Given the description of an element on the screen output the (x, y) to click on. 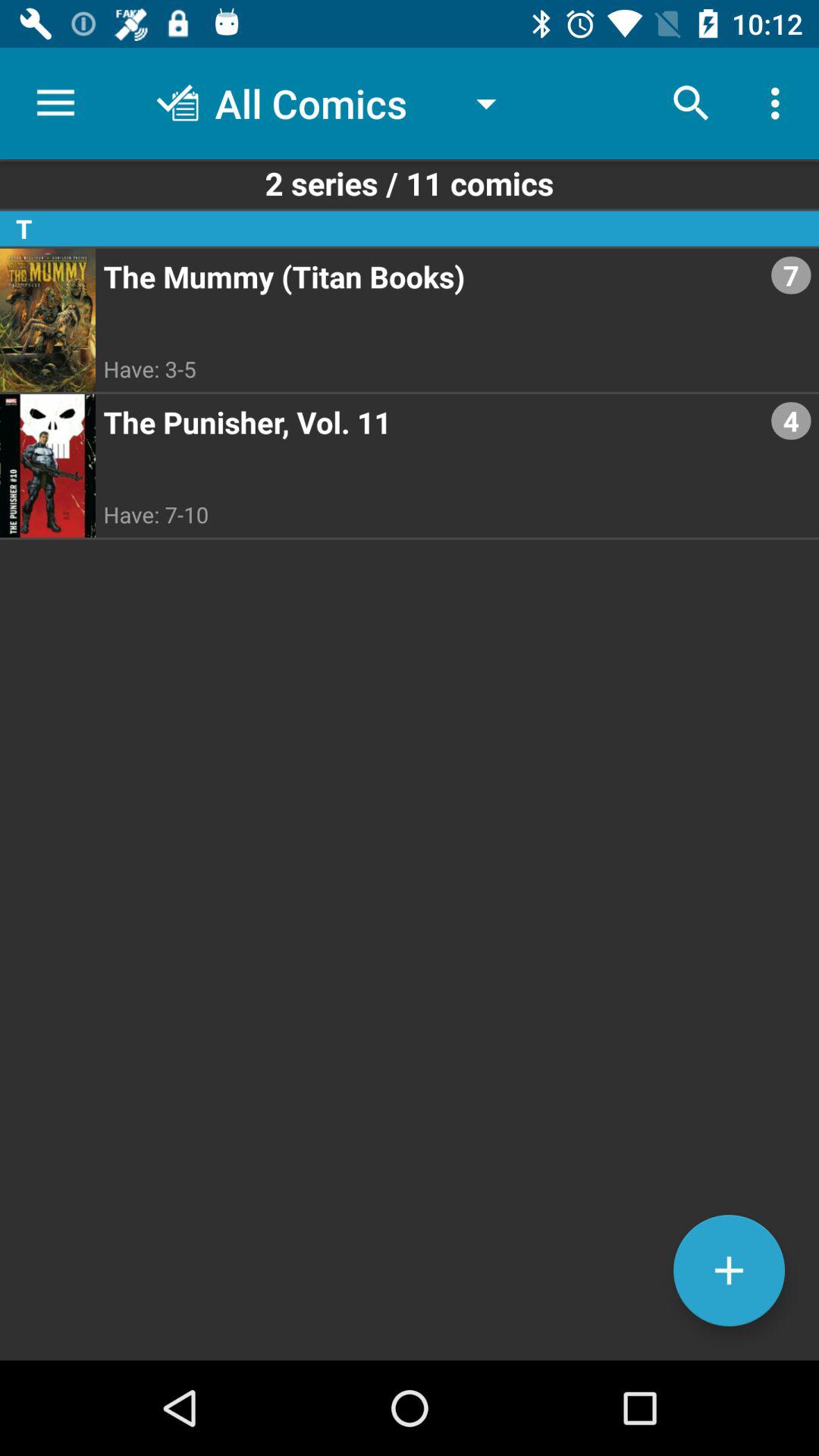
add to new series (728, 1270)
